Given the description of an element on the screen output the (x, y) to click on. 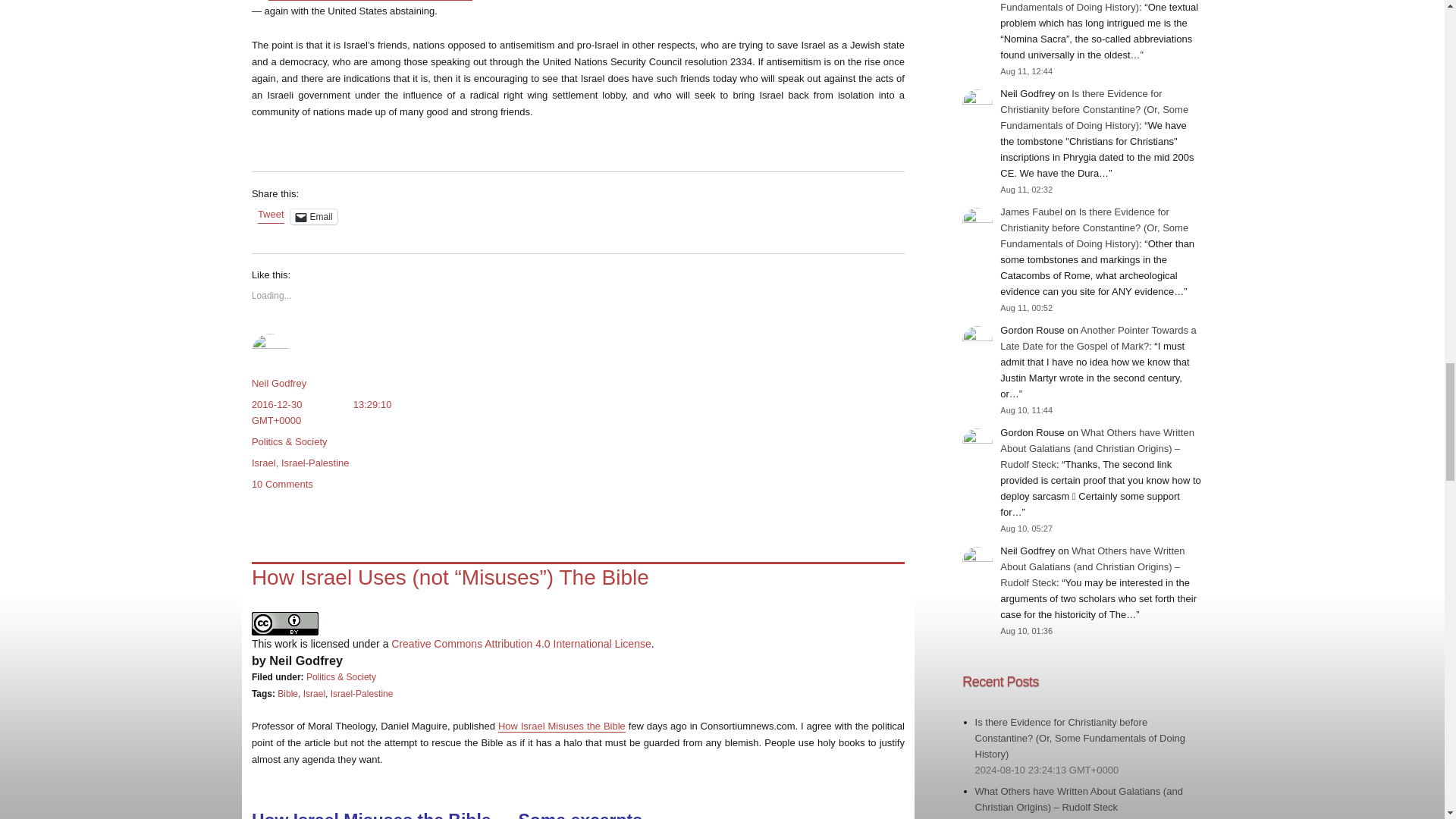
Email (313, 216)
Israel (313, 693)
Israel (263, 462)
10 Comments (282, 483)
Neil Godfrey (278, 383)
Click to email a link to a friend (313, 216)
Creative Commons Attribution 4.0 International License (520, 644)
Bible (288, 693)
Tweet (270, 215)
Israel-Palestine (315, 462)
